Given the description of an element on the screen output the (x, y) to click on. 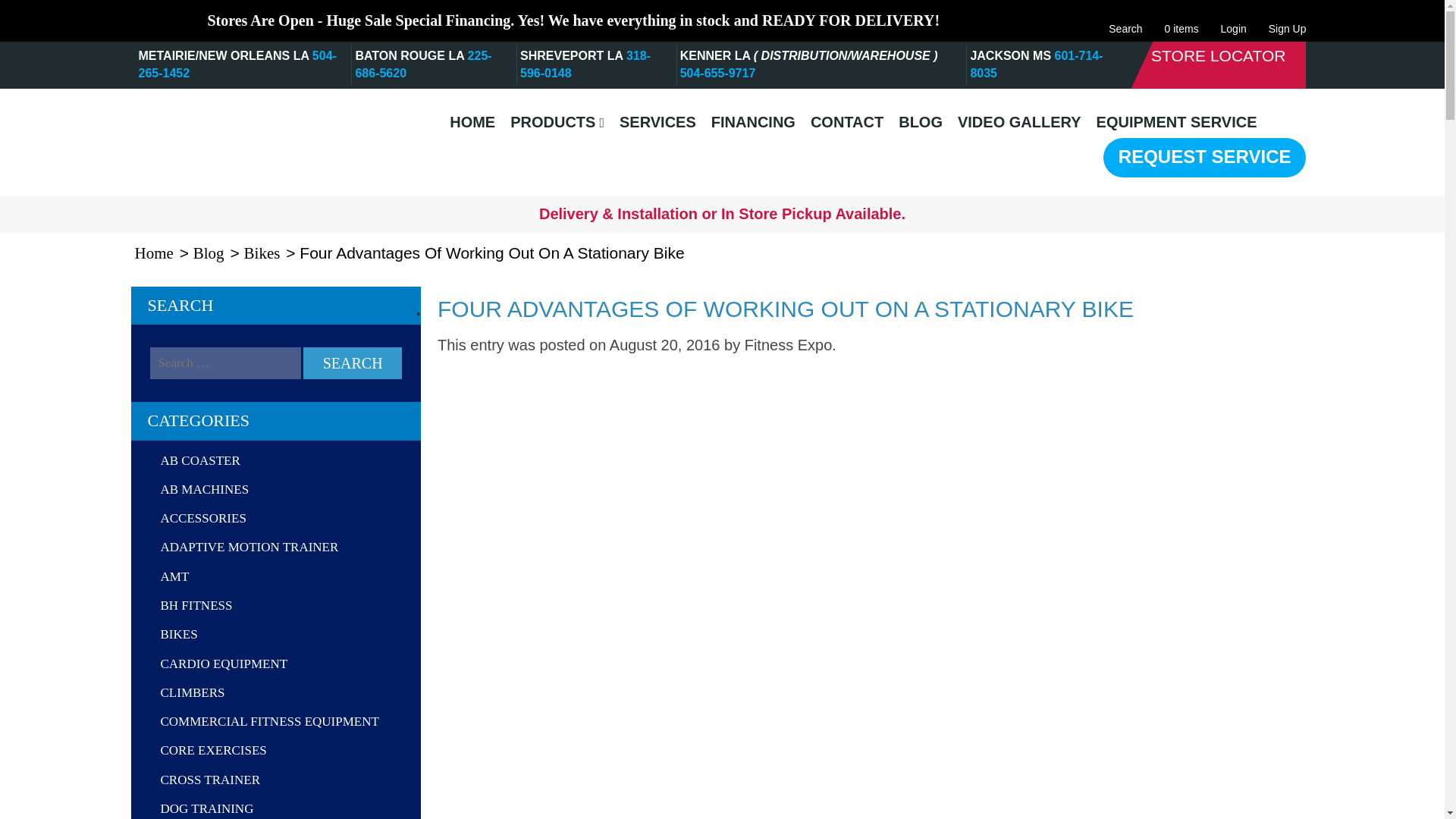
Go to Blog. (209, 253)
HOME (472, 122)
PRODUCTS (557, 122)
601-714-8035 (1035, 64)
Search (1124, 19)
View your shopping cart (1181, 20)
Sign Up (1287, 20)
318-596-0148 (584, 64)
504-655-9717 (717, 72)
Search Posts (225, 363)
